Given the description of an element on the screen output the (x, y) to click on. 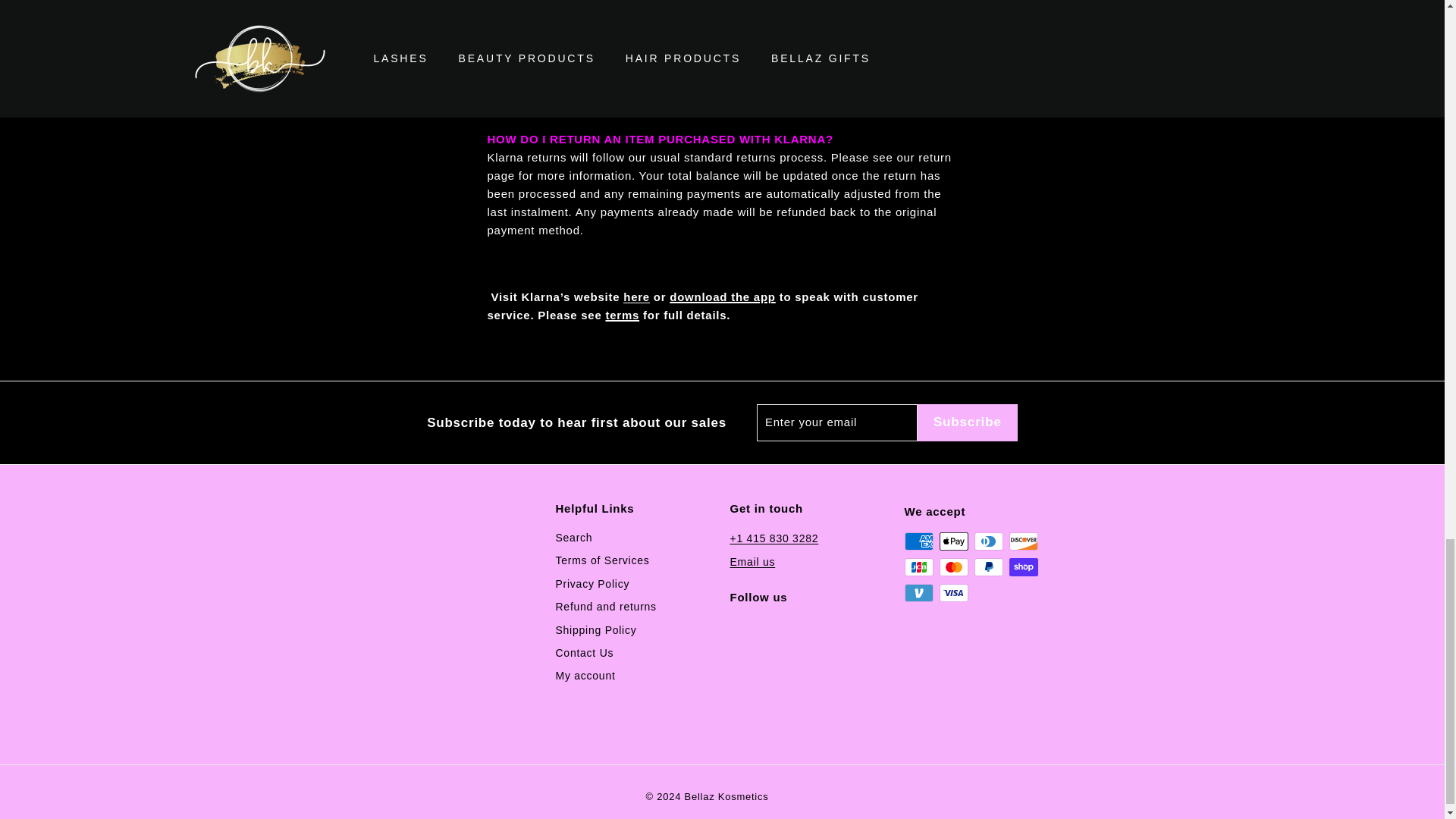
terms (883, 83)
terms (622, 314)
Shop Pay (1022, 566)
download the app (722, 296)
JCB (918, 566)
American Express (918, 541)
Klarna Customer Service (636, 296)
Apple Pay (953, 541)
Visa (953, 592)
My account (584, 675)
Privacy Policy (591, 583)
Contact Us (583, 652)
Diners Club (988, 541)
Subscribe (967, 422)
Email us (751, 561)
